Given the description of an element on the screen output the (x, y) to click on. 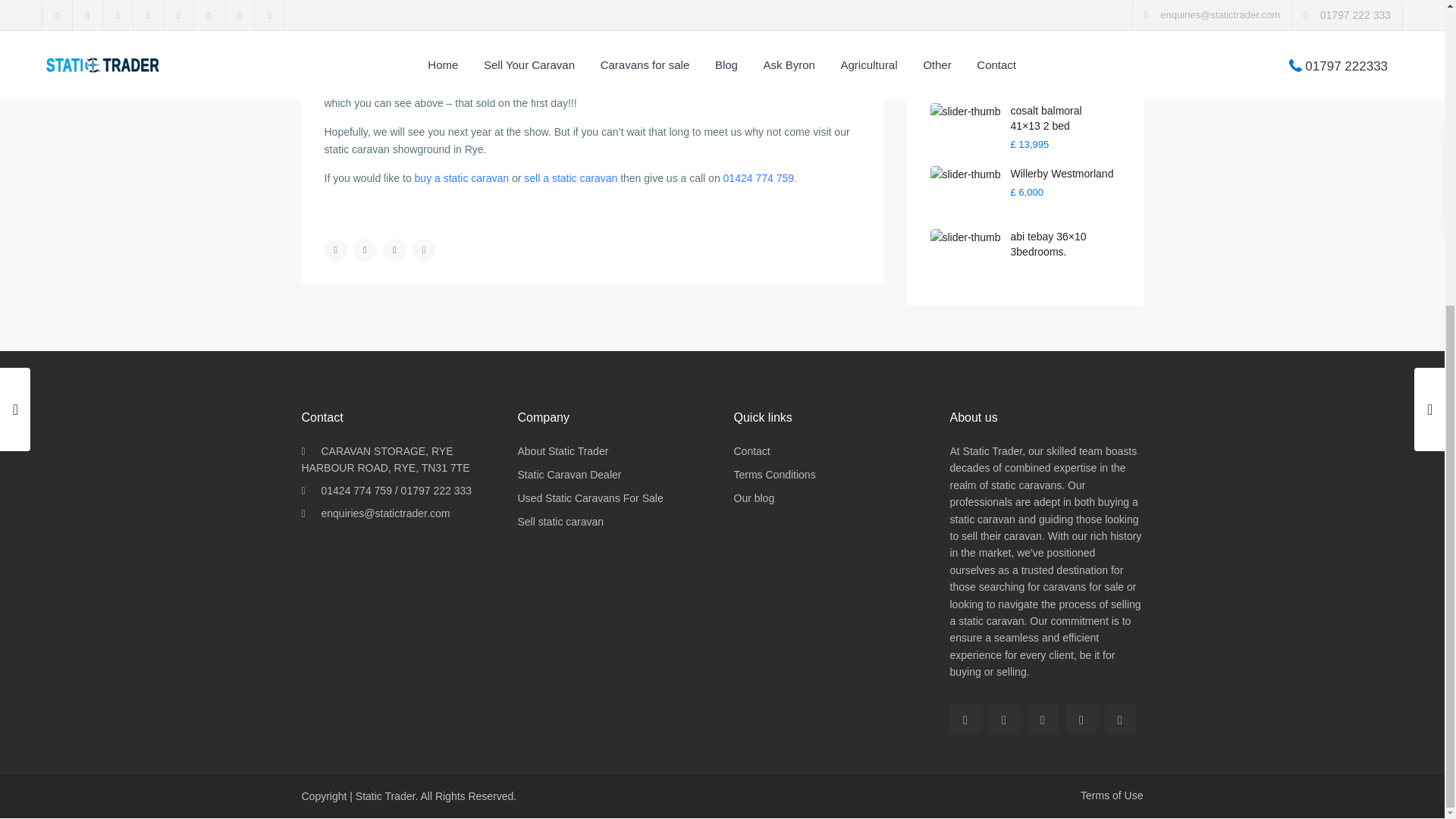
Static Caravan Dealer (568, 474)
About Static Trader (562, 451)
Static Caravans For Sale (589, 498)
Sell static caravan (560, 521)
